Given the description of an element on the screen output the (x, y) to click on. 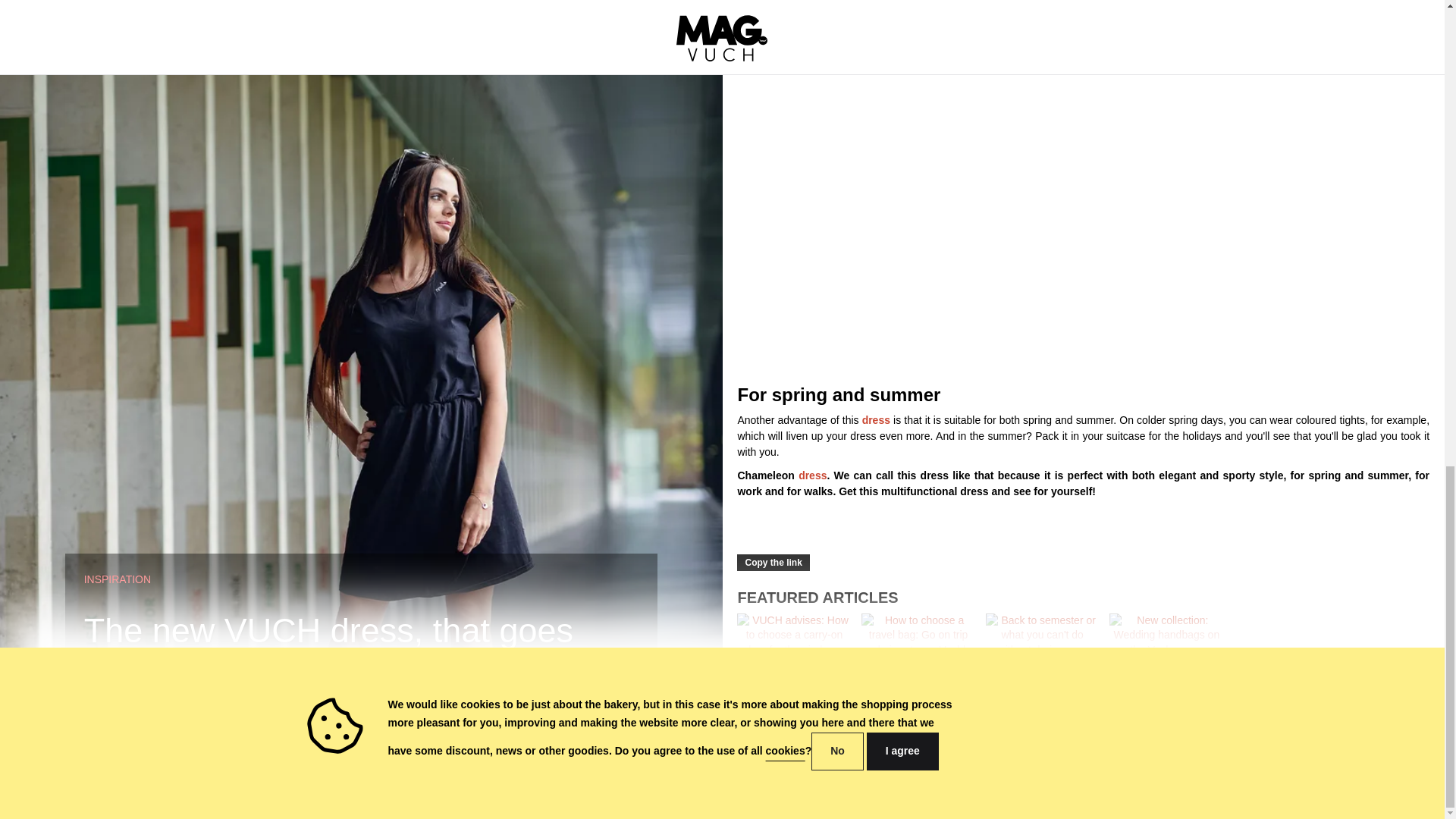
dress (812, 475)
dress (875, 419)
Copy the link (772, 562)
